Given the description of an element on the screen output the (x, y) to click on. 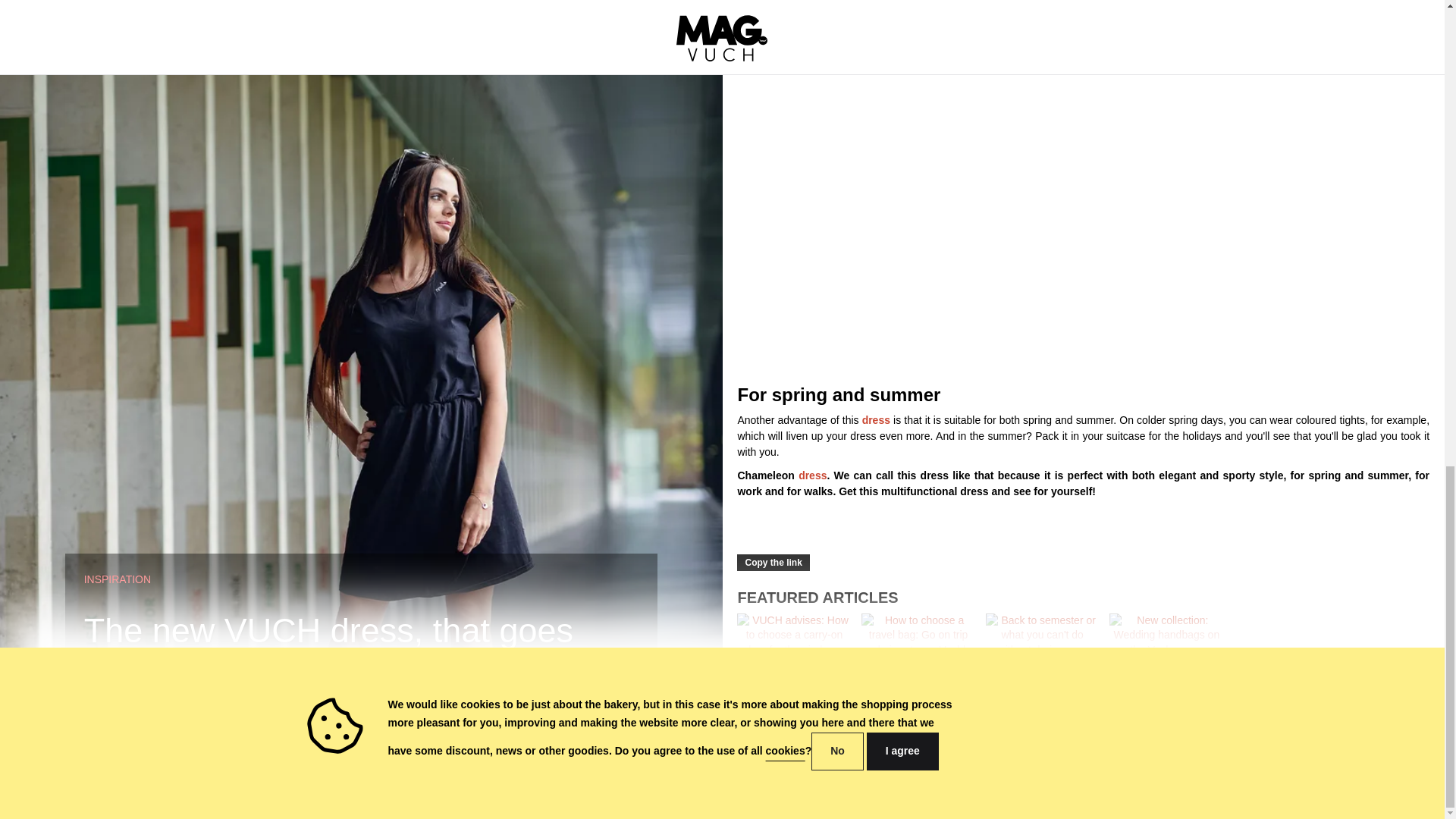
dress (812, 475)
dress (875, 419)
Copy the link (772, 562)
